Given the description of an element on the screen output the (x, y) to click on. 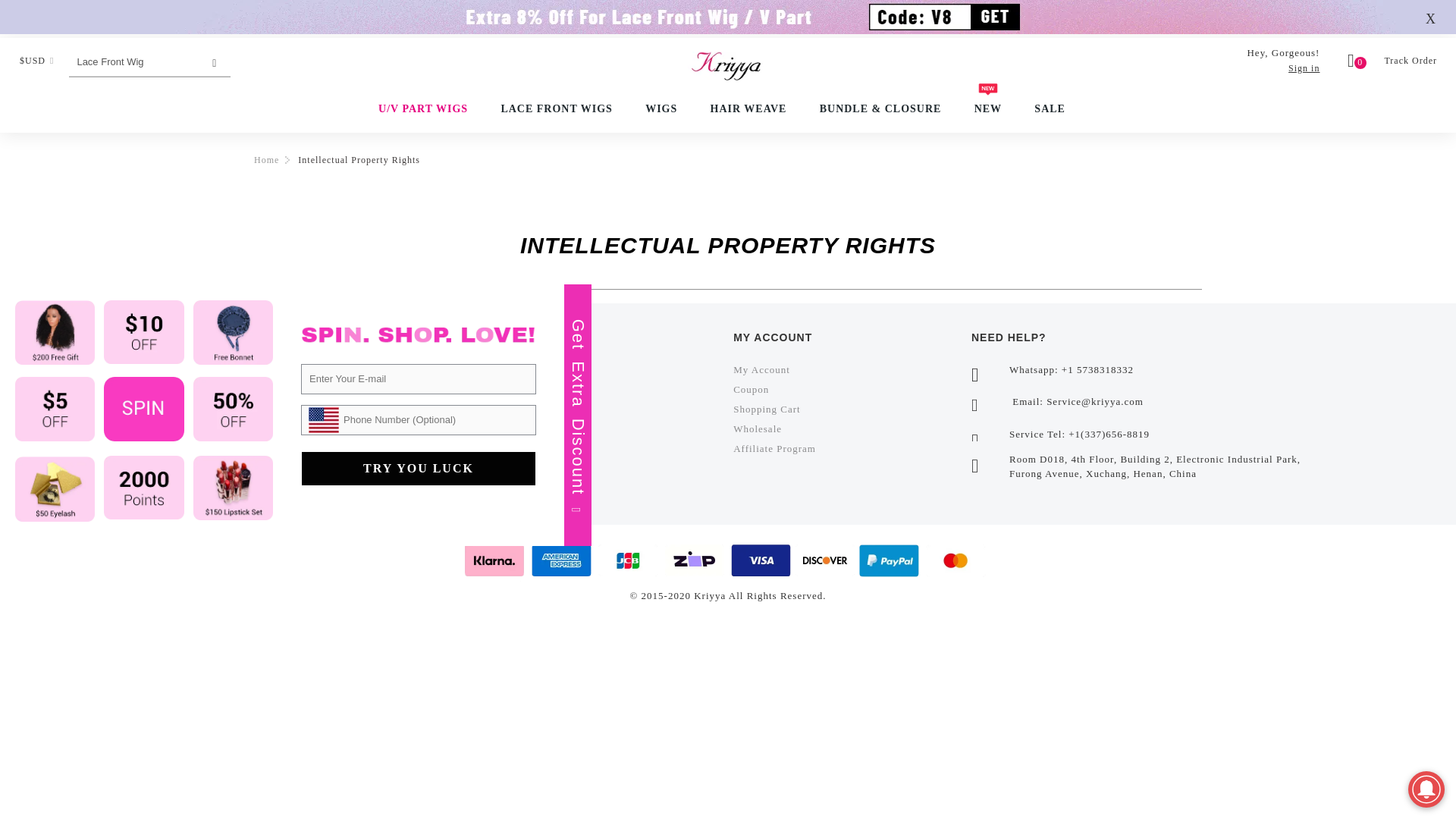
Track Order (1412, 60)
track order (1412, 60)
Currency (36, 60)
Sign in (1303, 68)
LACE FRONT WIGS (556, 108)
Lace Front Wig (133, 60)
WIGS (661, 108)
0 (1357, 61)
Sign in (1303, 68)
Lace Front Wig (133, 60)
